Given the description of an element on the screen output the (x, y) to click on. 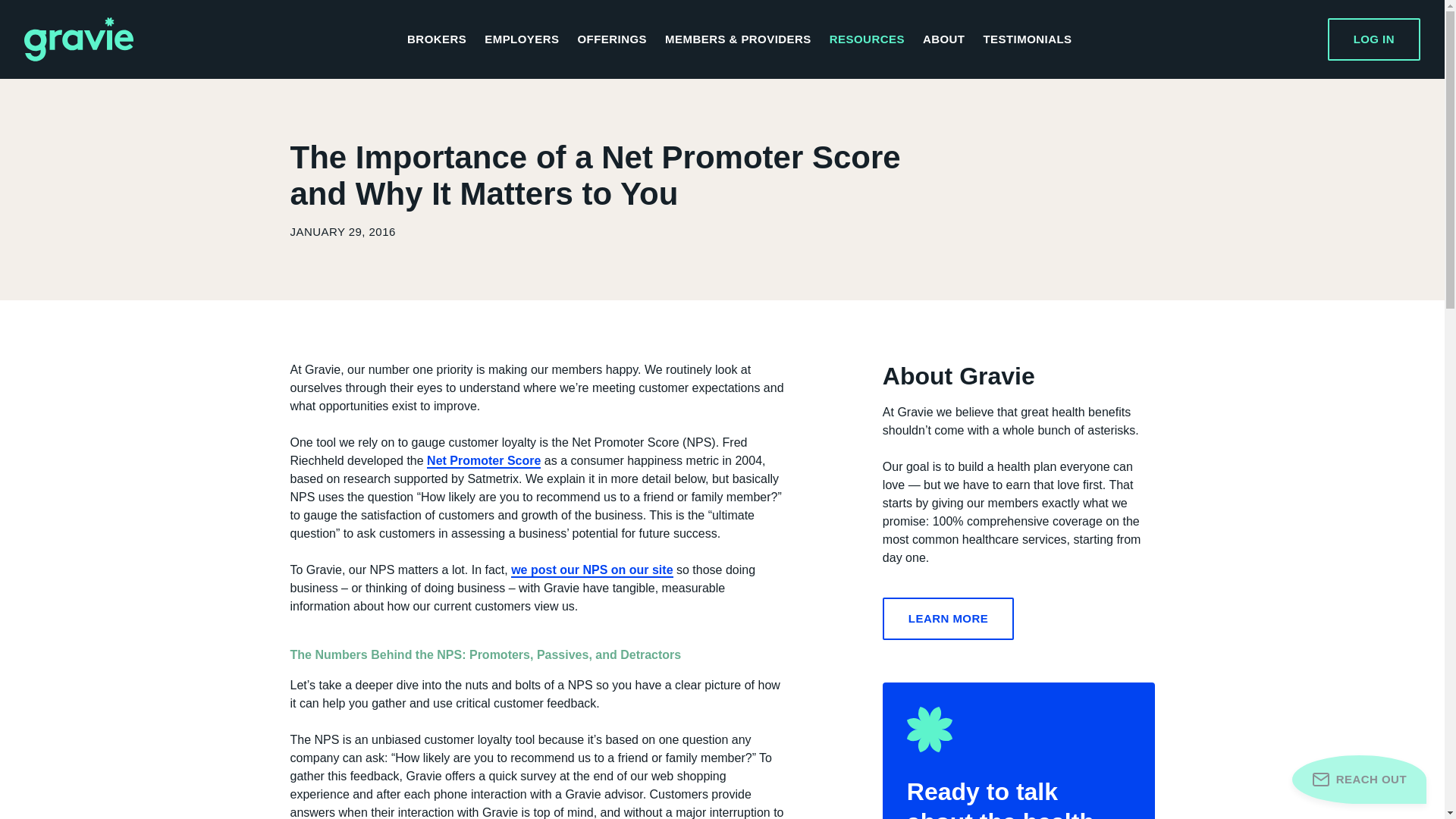
OFFERINGS (611, 38)
EMPLOYERS (521, 38)
BROKERS (436, 38)
we post our NPS on our site (591, 570)
RESOURCES (866, 38)
LOG IN (1374, 39)
TESTIMONIALS (1026, 38)
ABOUT (944, 38)
LEARN MORE (947, 618)
Net Promoter Score (483, 461)
